Given the description of an element on the screen output the (x, y) to click on. 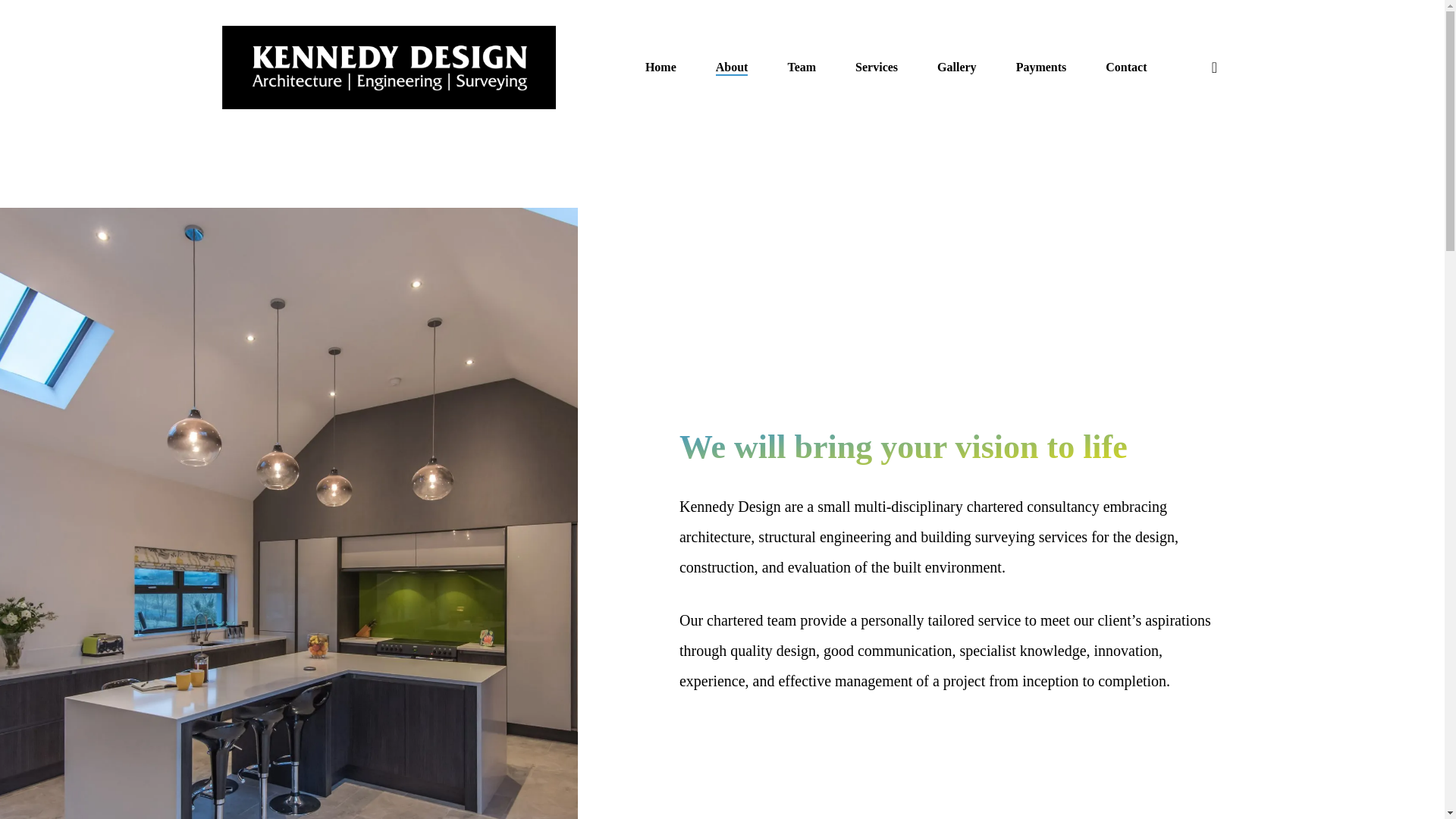
Payments (1041, 67)
About (732, 67)
Team (801, 67)
Contact (1126, 67)
Home (661, 67)
Gallery (956, 67)
Services (877, 67)
